Given the description of an element on the screen output the (x, y) to click on. 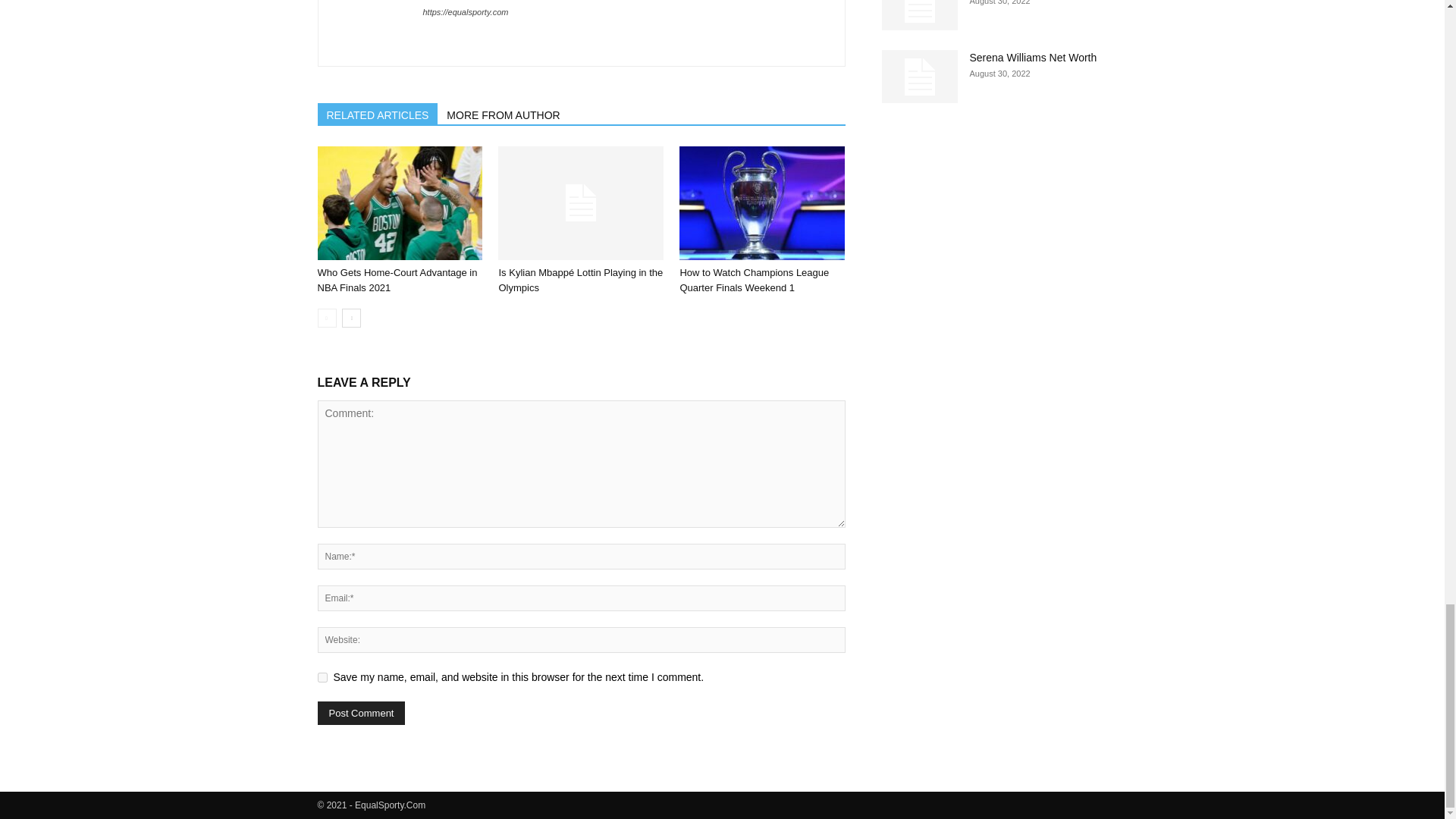
Who Gets Home-Court Advantage in NBA Finals 2021 (397, 279)
Who Gets Home-Court Advantage in NBA Finals 2021 (399, 203)
Post Comment (360, 712)
yes (321, 677)
